Given the description of an element on the screen output the (x, y) to click on. 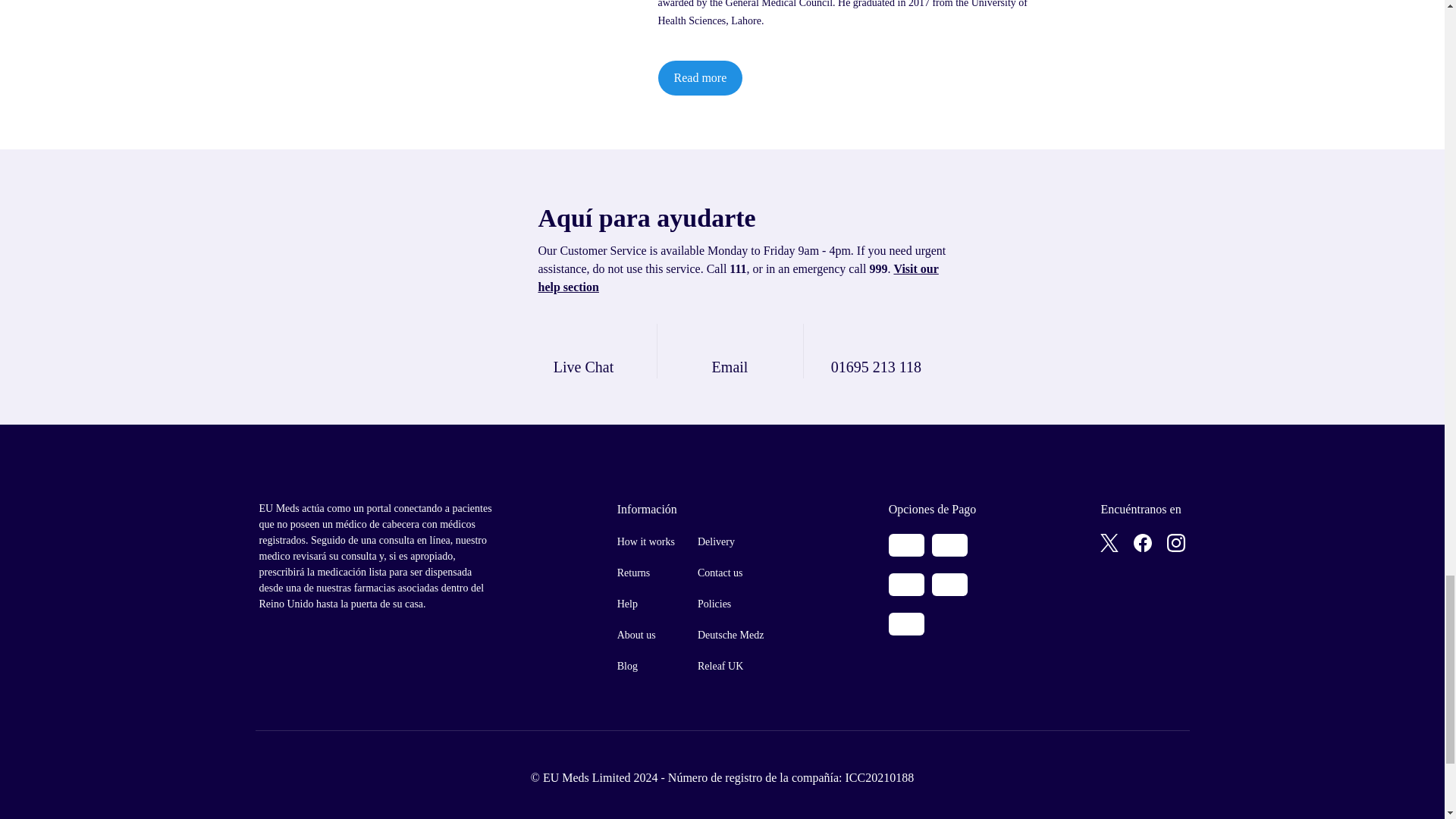
Delivery (729, 541)
Read more (700, 77)
Policies (729, 603)
Deutsche Medz (729, 634)
01695 213 118 (876, 350)
How it works (646, 541)
Help (646, 603)
Email (729, 350)
About us (646, 634)
Blog (646, 666)
Releaf UK (729, 666)
Contact us (729, 572)
Visit our help section (738, 277)
Returns (646, 572)
Live Chat (583, 350)
